Given the description of an element on the screen output the (x, y) to click on. 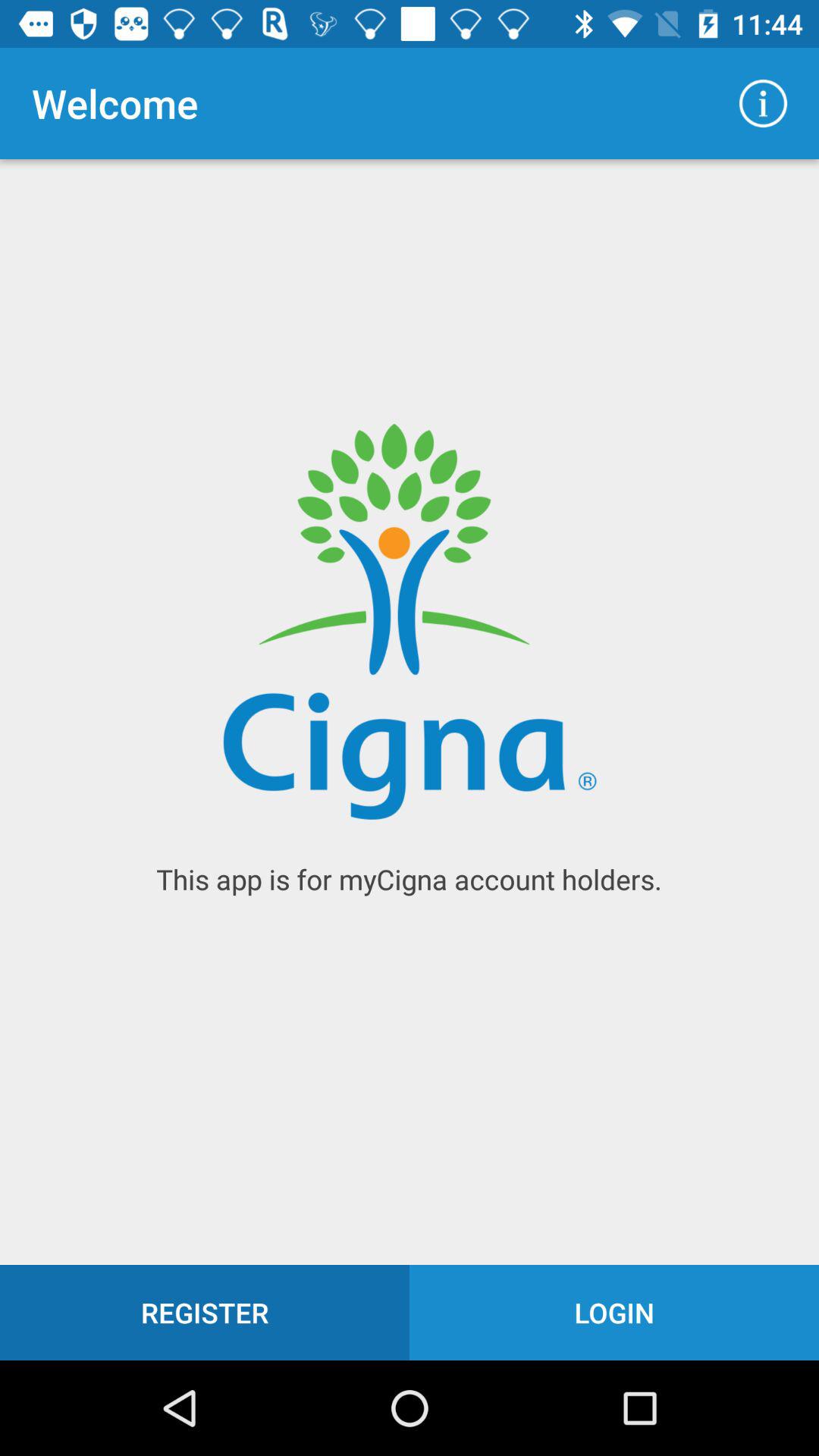
select icon next to the login (204, 1312)
